Given the description of an element on the screen output the (x, y) to click on. 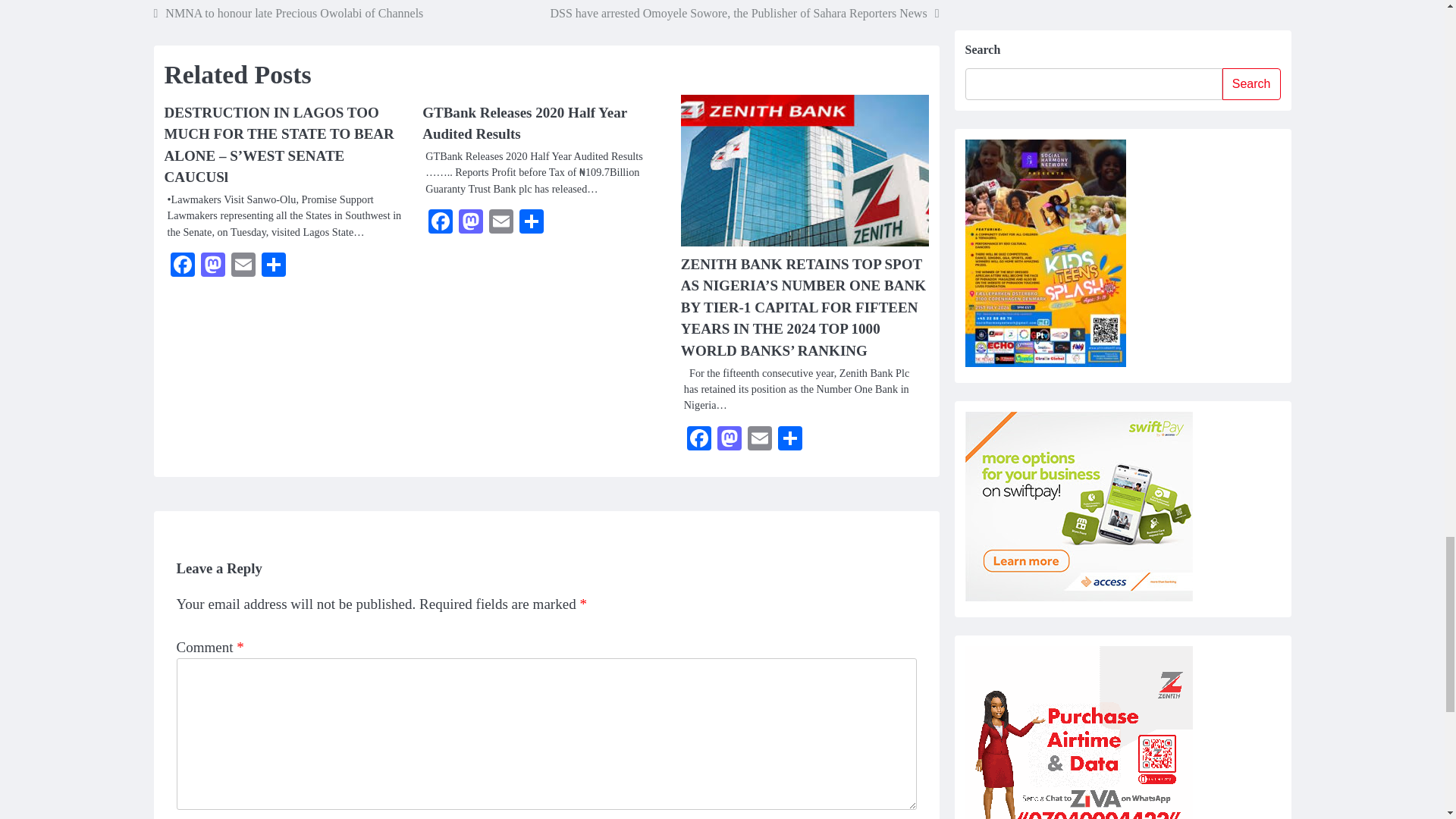
Email (501, 223)
Mastodon (729, 439)
Facebook (699, 439)
Facebook (181, 266)
Mastodon (211, 266)
Mastodon (211, 266)
NMNA to honour late Precious Owolabi of Channels (287, 13)
Email (242, 266)
Email (759, 439)
Facebook (440, 223)
Mastodon (470, 223)
Facebook (181, 266)
